Given the description of an element on the screen output the (x, y) to click on. 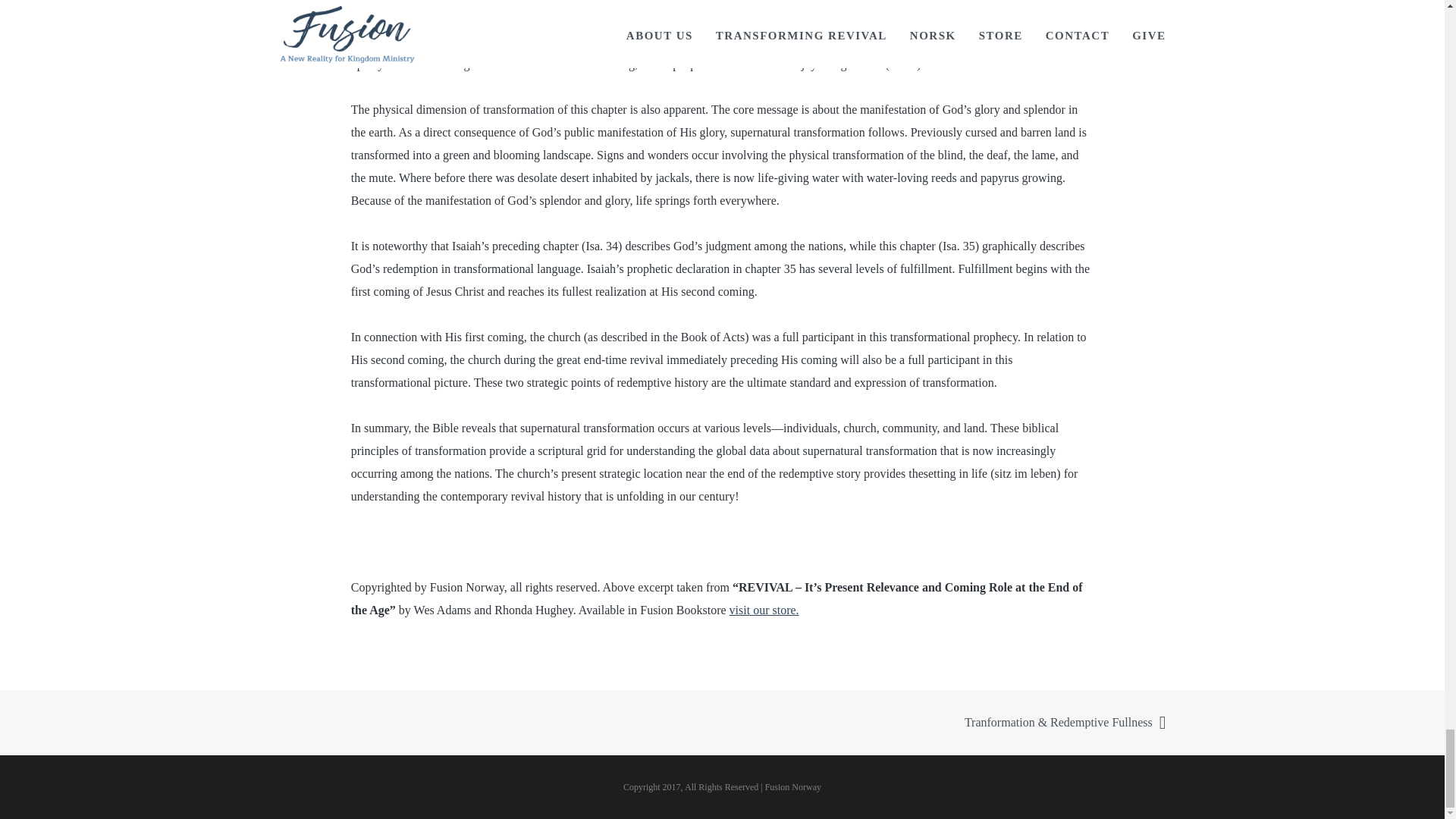
Fusion Norway (793, 787)
visit our store. (764, 609)
Fusion Store (764, 609)
